Given the description of an element on the screen output the (x, y) to click on. 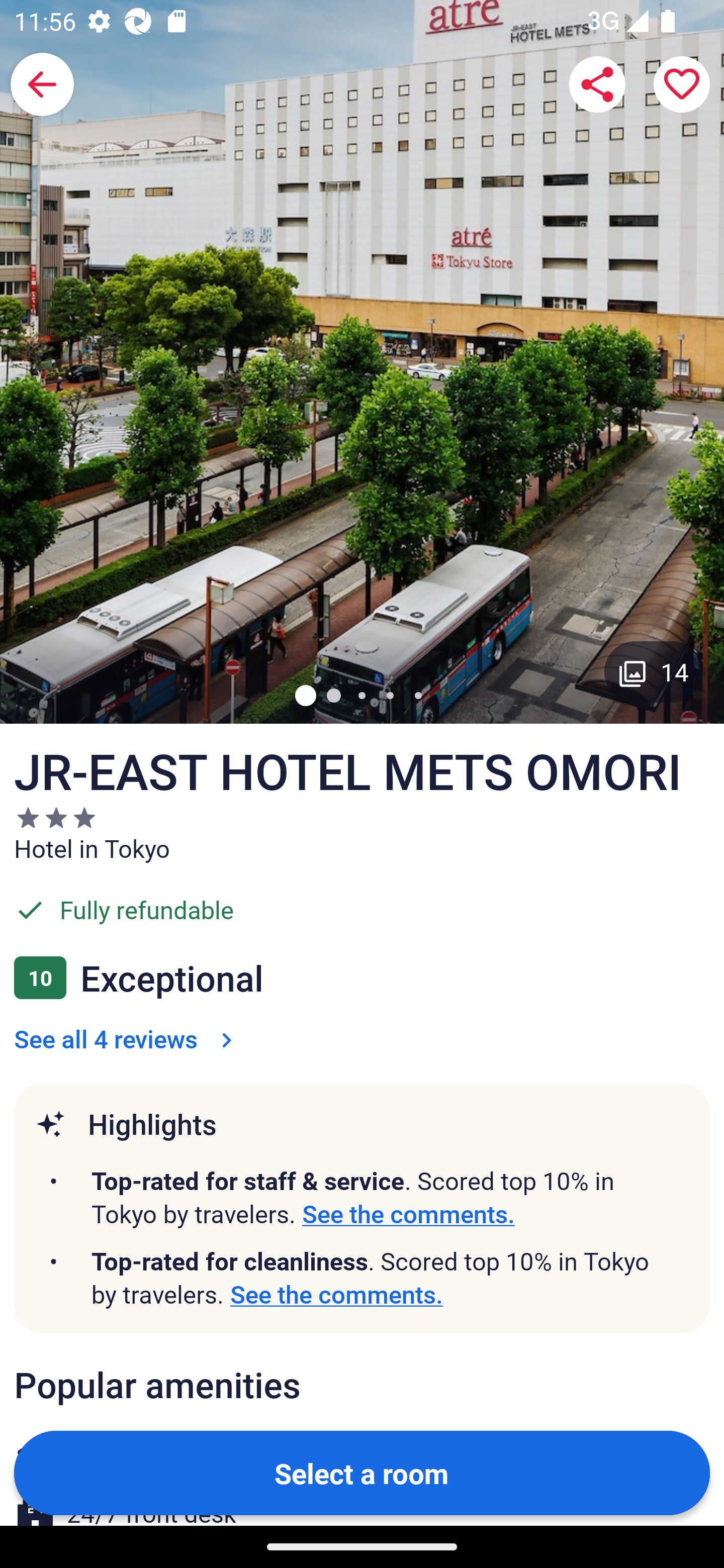
Back (42, 84)
Save property to a trip (681, 84)
Share JR-EAST HOTEL METS OMORI (597, 84)
Gallery button with 14 images (653, 671)
See all 4 reviews See all 4 reviews Link (126, 1038)
Select a room Button Select a room (361, 1472)
